Given the description of an element on the screen output the (x, y) to click on. 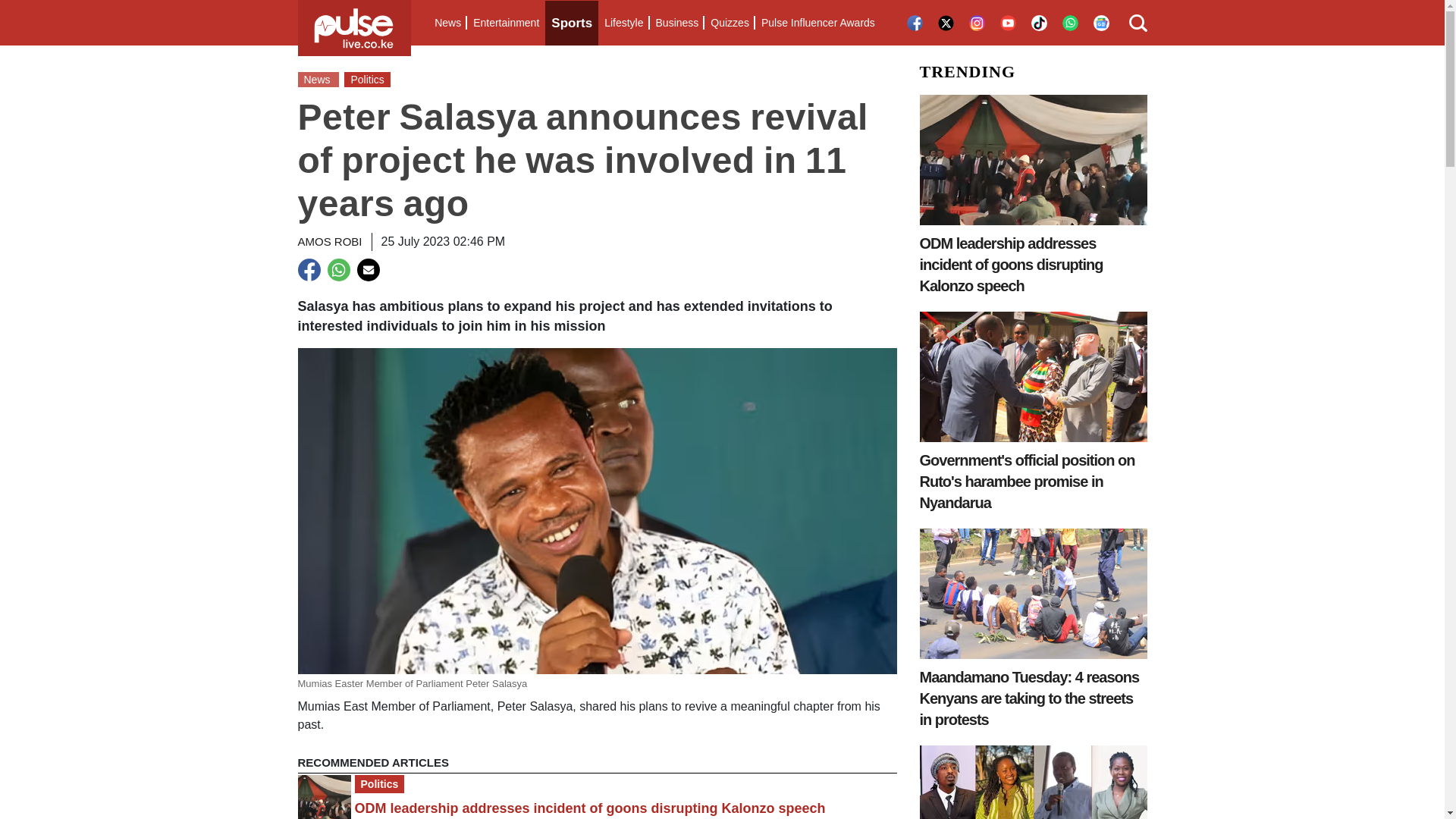
Business (676, 22)
Sports (571, 22)
Entertainment (505, 22)
News (447, 22)
Lifestyle (623, 22)
Pulse Influencer Awards (817, 22)
Quizzes (729, 22)
